Given the description of an element on the screen output the (x, y) to click on. 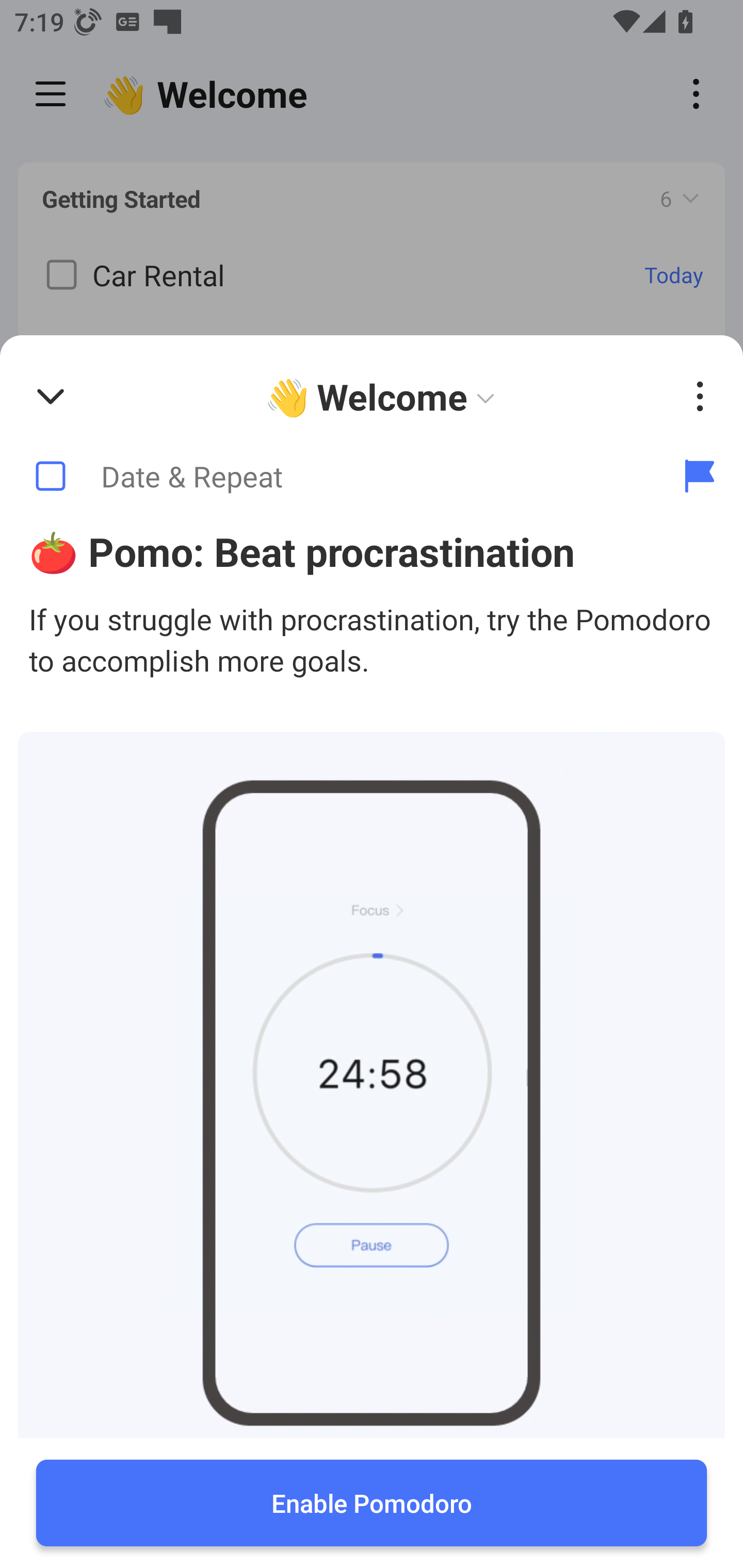
👋 Welcome (384, 396)
Date & Repeat (328, 476)
🍅 Pomo: Beat procrastination (371, 551)
Enable Pomodoro (371, 1502)
